Given the description of an element on the screen output the (x, y) to click on. 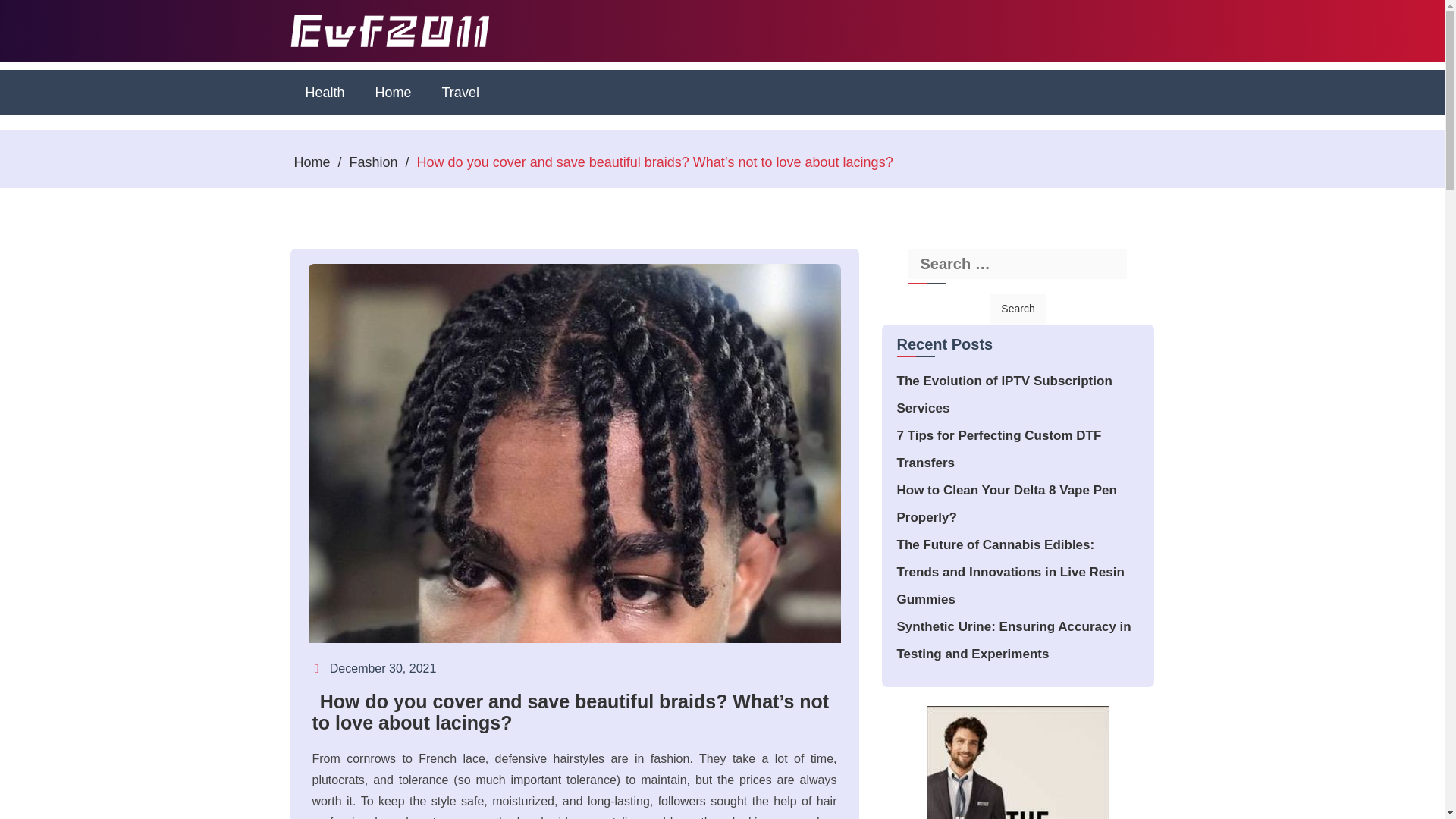
Search (1017, 309)
The Evolution of IPTV Subscription Services (1004, 394)
7 Tips for Perfecting Custom DTF Transfers (998, 449)
Home (392, 92)
Health (324, 92)
Ewf 2011 (341, 74)
Home (312, 161)
Home (392, 92)
Travel (460, 92)
